Given the description of an element on the screen output the (x, y) to click on. 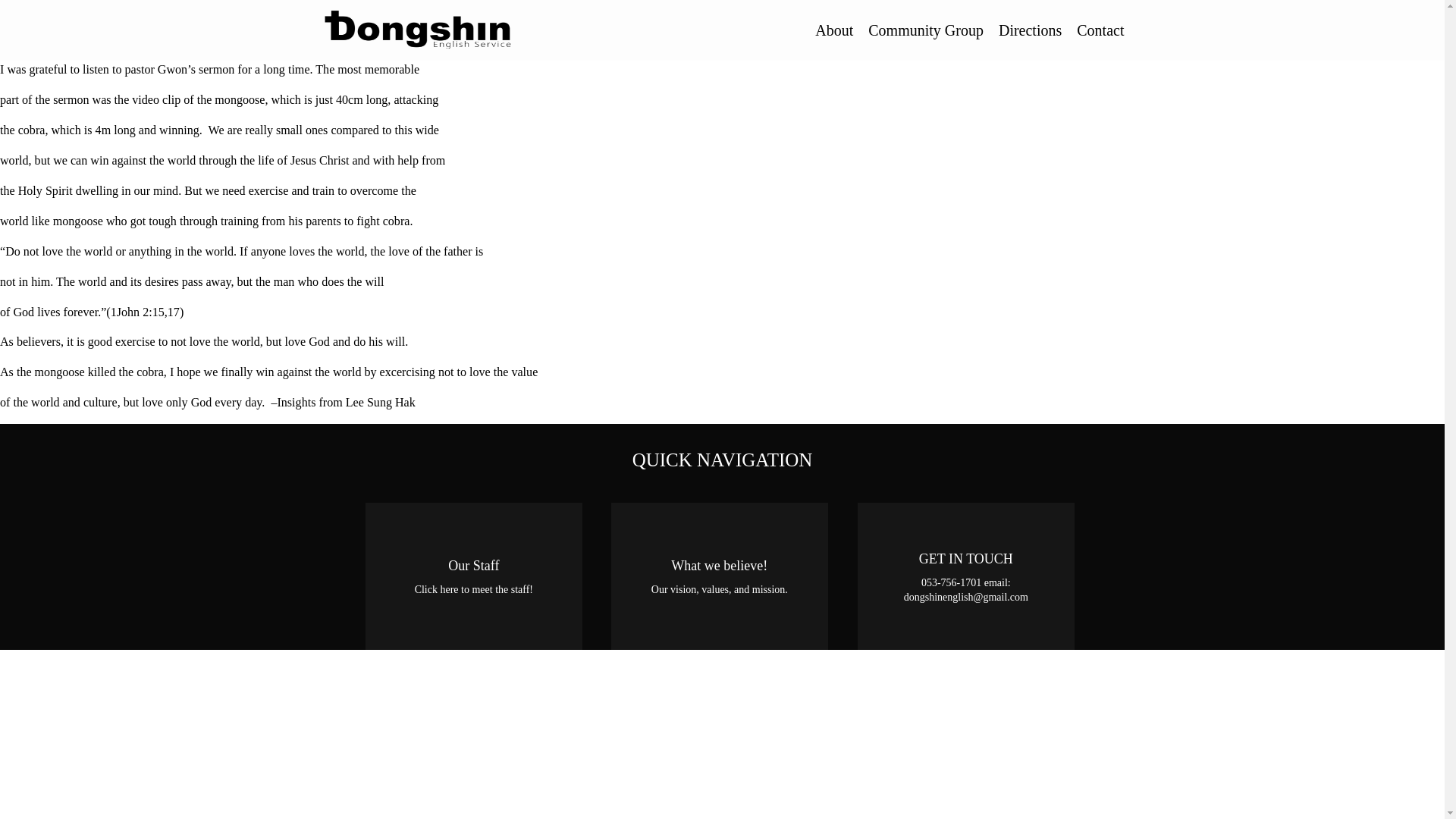
Community Group (925, 29)
Our Staff (474, 576)
About (834, 29)
Directions (1029, 29)
Dongshin English Church Service in Daegu (485, 30)
English Service (834, 29)
Directions (1029, 29)
GET IN TOUCH (965, 576)
Contact (1100, 29)
What we believe! (719, 576)
